Given the description of an element on the screen output the (x, y) to click on. 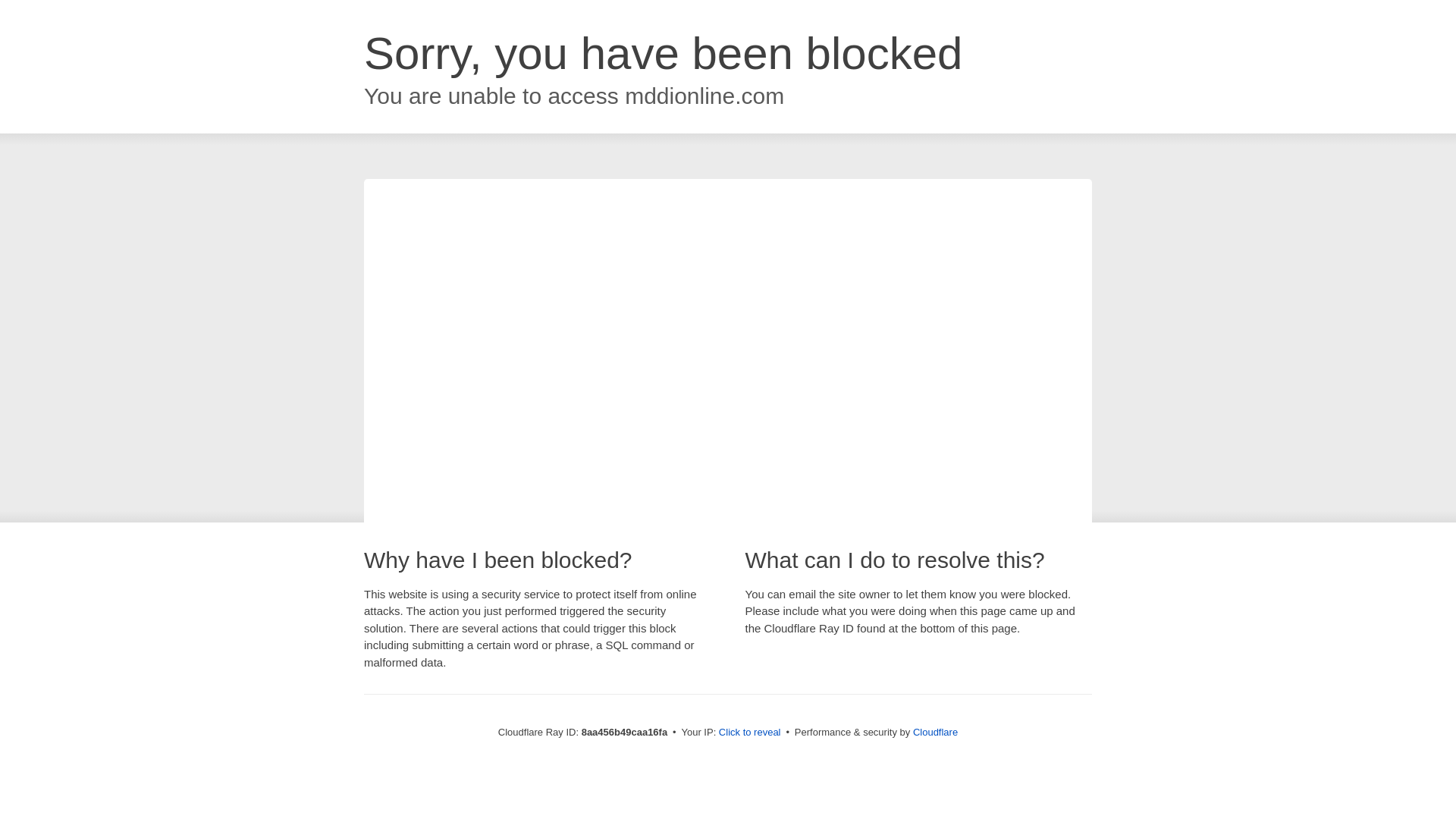
Click to reveal (749, 732)
Cloudflare (935, 731)
